Given the description of an element on the screen output the (x, y) to click on. 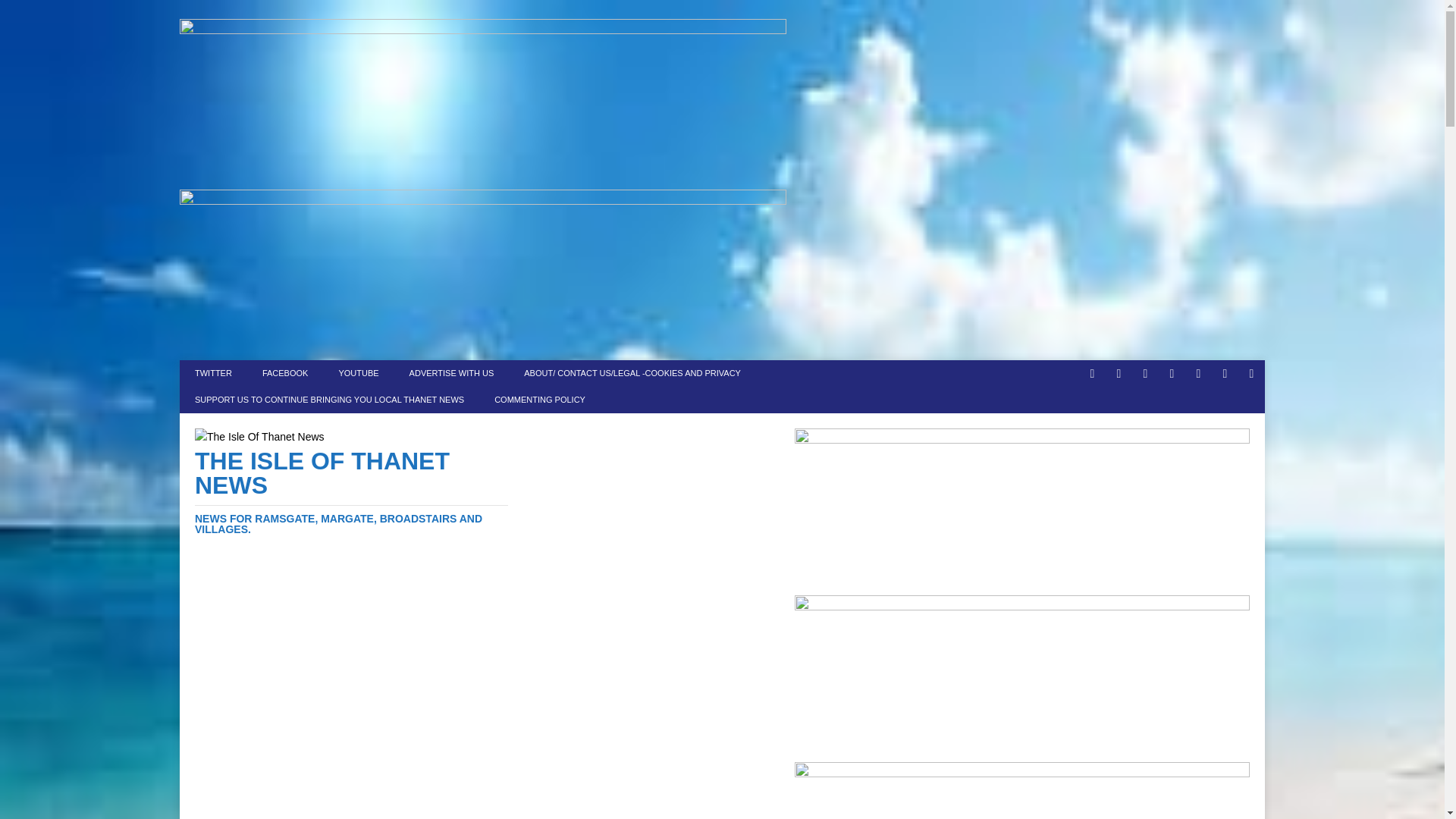
The Isle Of Thanet News (351, 491)
TWITTER (213, 373)
ADVERTISE WITH US (451, 373)
SUPPORT US TO CONTINUE BRINGING YOU LOCAL THANET NEWS (329, 399)
COMMENTING POLICY (539, 399)
YOUTUBE (358, 373)
FACEBOOK (285, 373)
